Given the description of an element on the screen output the (x, y) to click on. 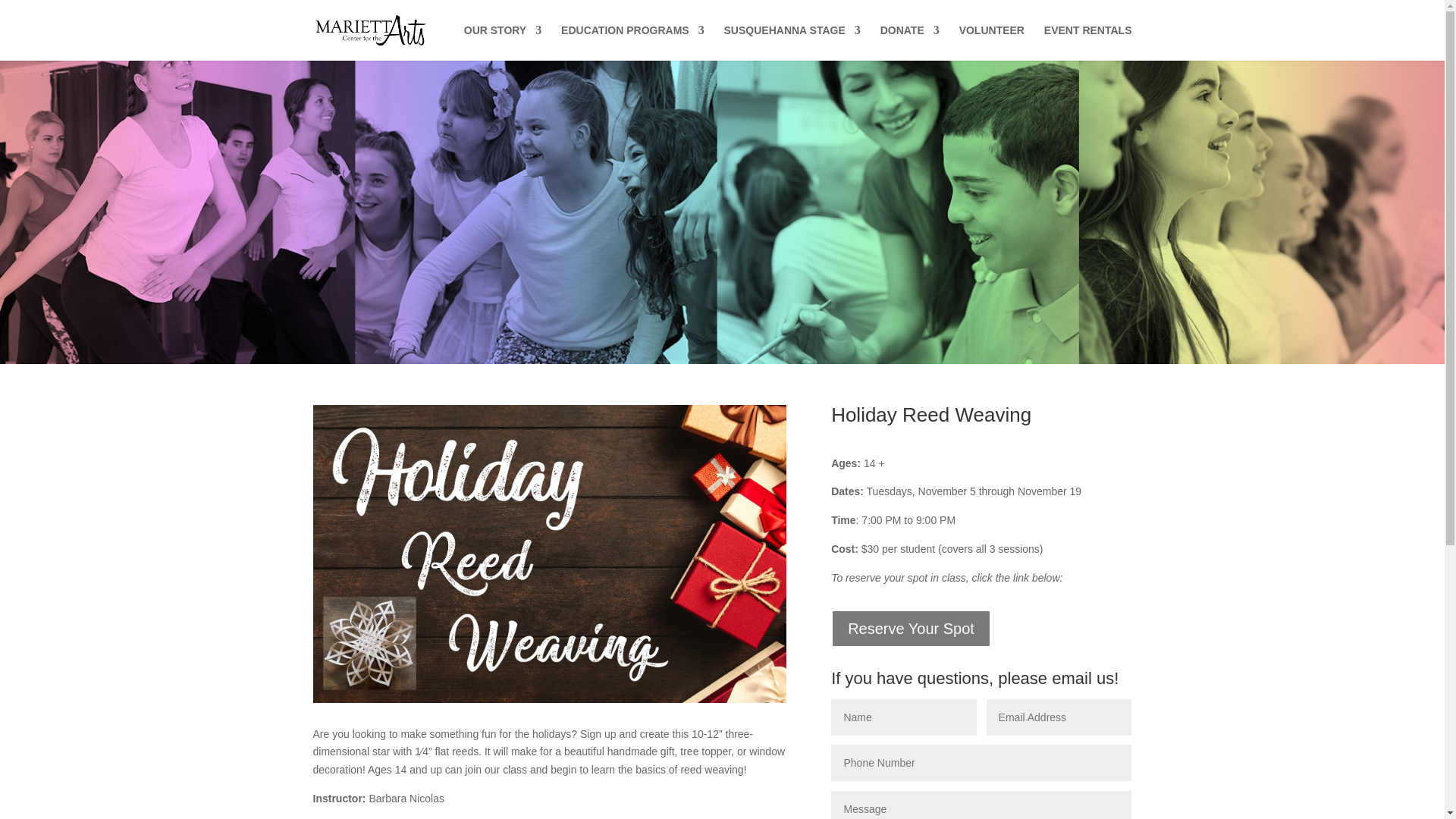
Reserve Your Spot (911, 628)
SUSQUEHANNA STAGE (791, 42)
VOLUNTEER (992, 42)
EDUCATION PROGRAMS (632, 42)
DONATE (909, 42)
EVENT RENTALS (1087, 42)
OUR STORY (502, 42)
